Given the description of an element on the screen output the (x, y) to click on. 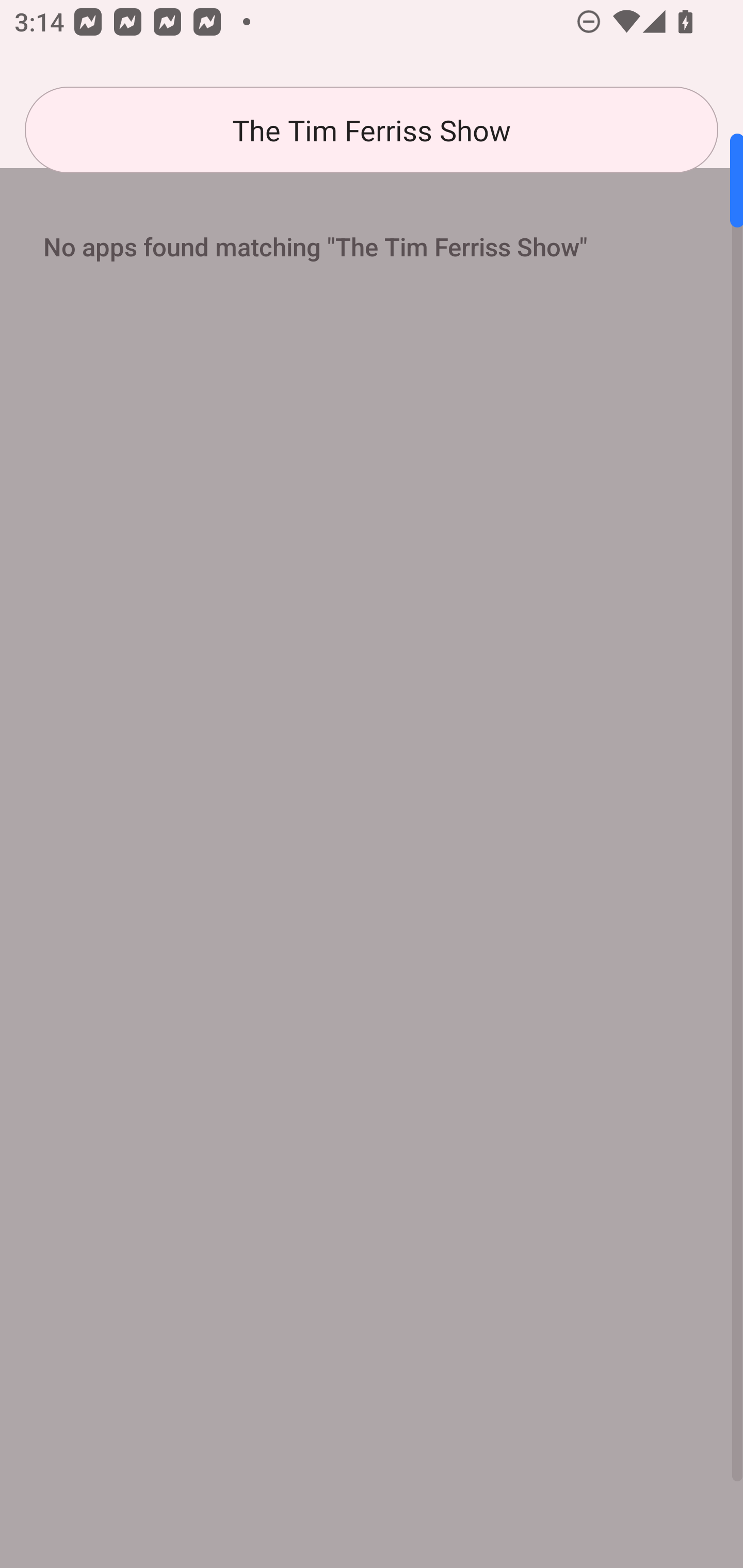
The Tim Ferriss Show (371, 130)
